Given the description of an element on the screen output the (x, y) to click on. 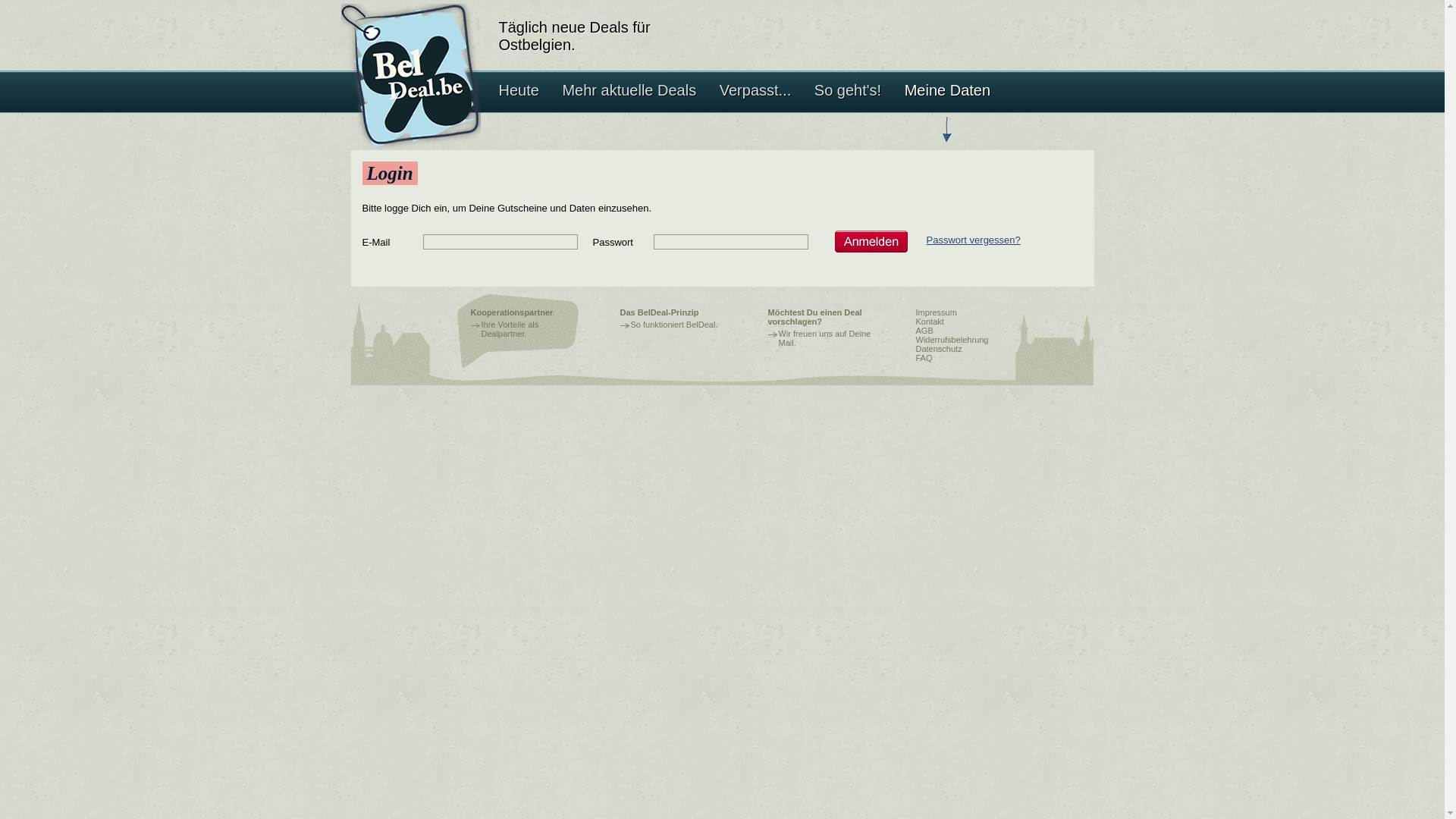
Mehr aktuelle Deals Element type: text (628, 111)
Wir freuen uns auf Deine Mail Element type: text (824, 338)
FAQ Element type: text (924, 357)
Widerrufsbelehrung Element type: text (952, 339)
Kontakt Element type: text (930, 321)
Impressum Element type: text (936, 311)
Passwort vergessen? Element type: text (973, 239)
Verpasst... Element type: text (755, 111)
Ihre Vorteile als Dealpartner. Element type: text (509, 329)
So geht's! Element type: text (847, 111)
Datenschutz Element type: text (939, 348)
So funktioniert BelDeal. Element type: text (674, 324)
Heute Element type: text (518, 111)
AGB Element type: text (924, 330)
Meine Daten Element type: text (947, 111)
